Given the description of an element on the screen output the (x, y) to click on. 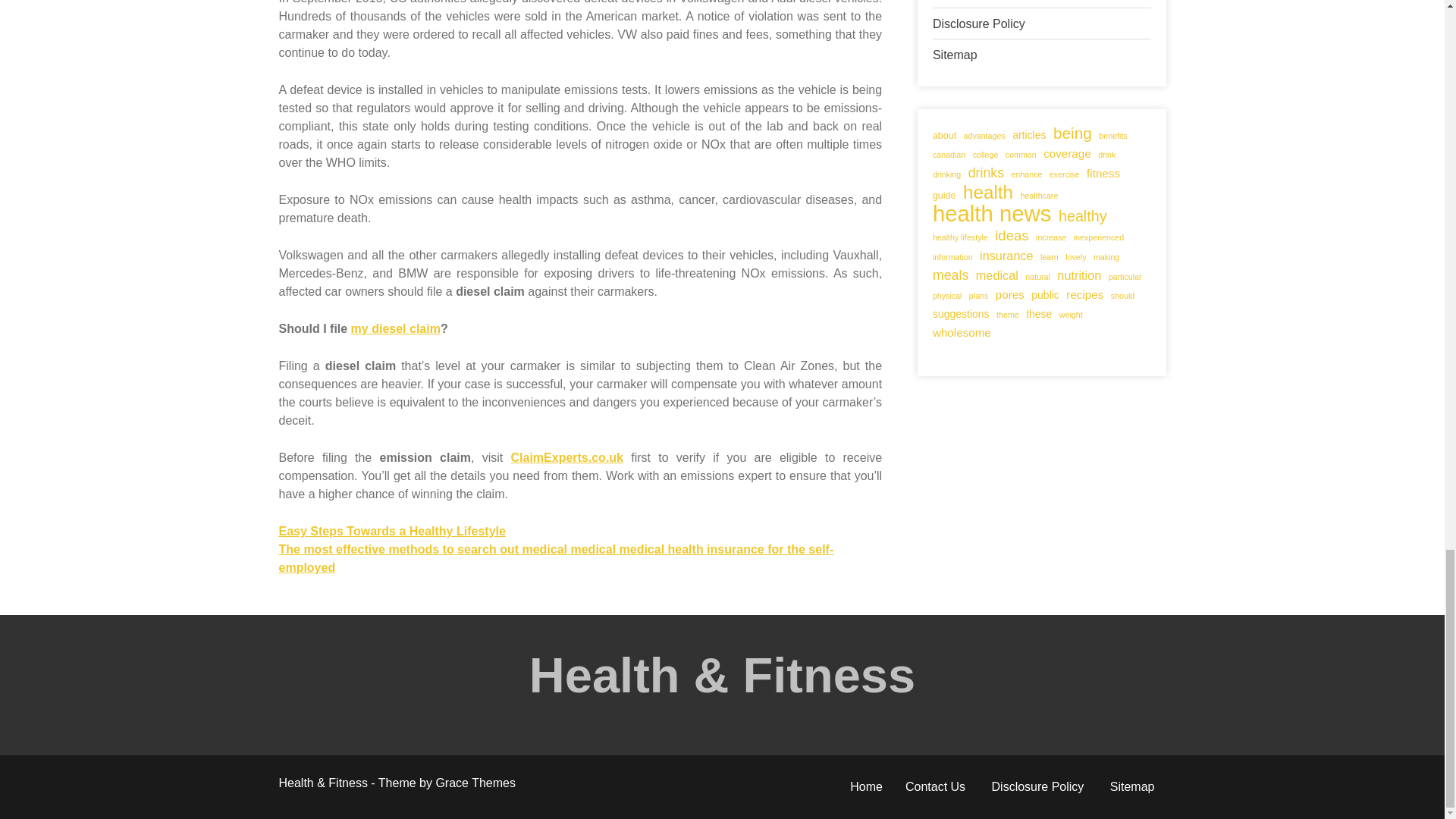
Easy Steps Towards a Healthy Lifestyle (392, 530)
my diesel claim (395, 328)
ClaimExperts.co.uk (567, 457)
